Given the description of an element on the screen output the (x, y) to click on. 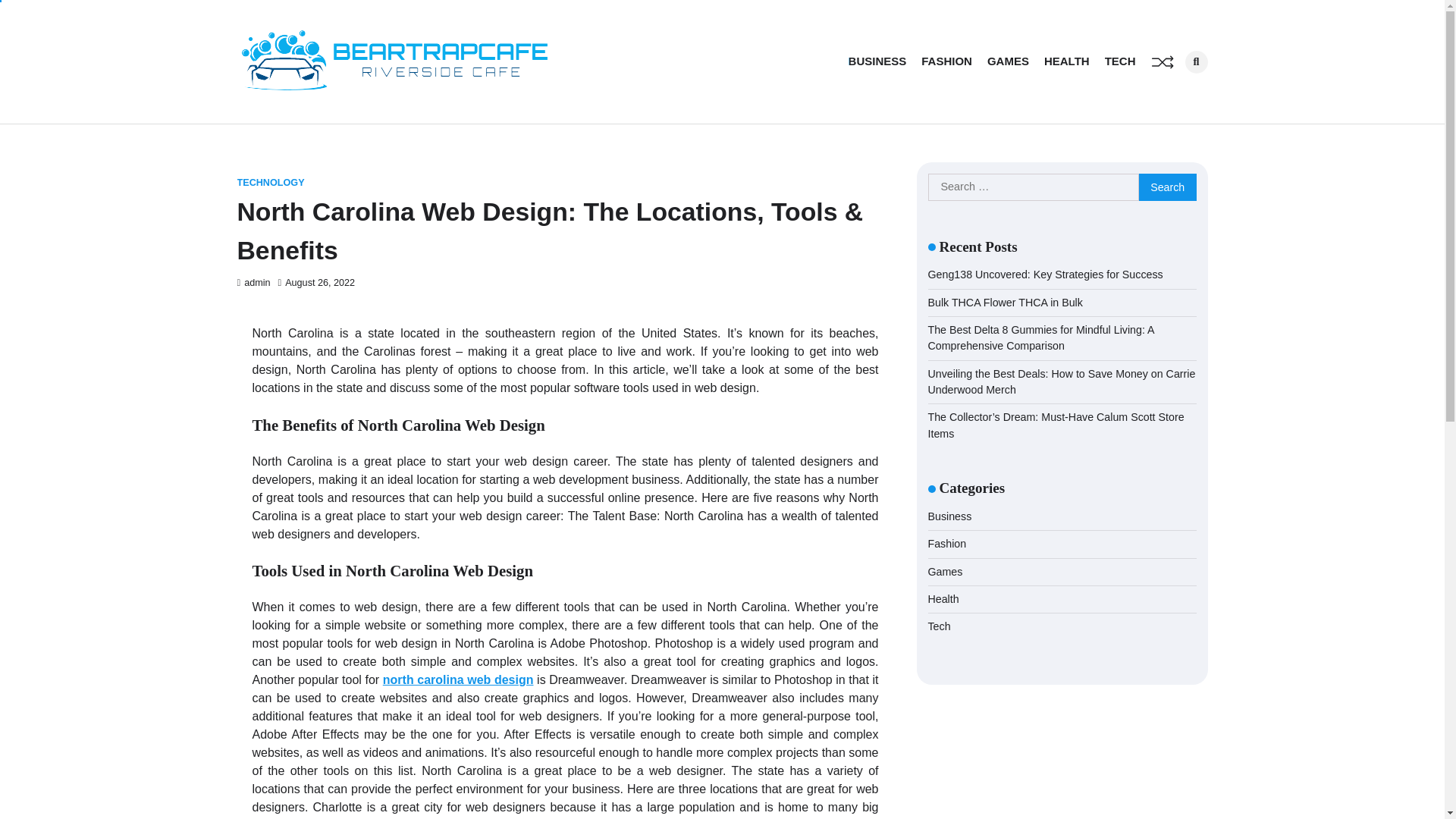
HEALTH (1066, 61)
TECH (1120, 61)
north carolina web design (458, 679)
Health (943, 598)
Games (945, 571)
FASHION (946, 61)
Search (1170, 93)
Fashion (947, 543)
Search (1167, 186)
